Given the description of an element on the screen output the (x, y) to click on. 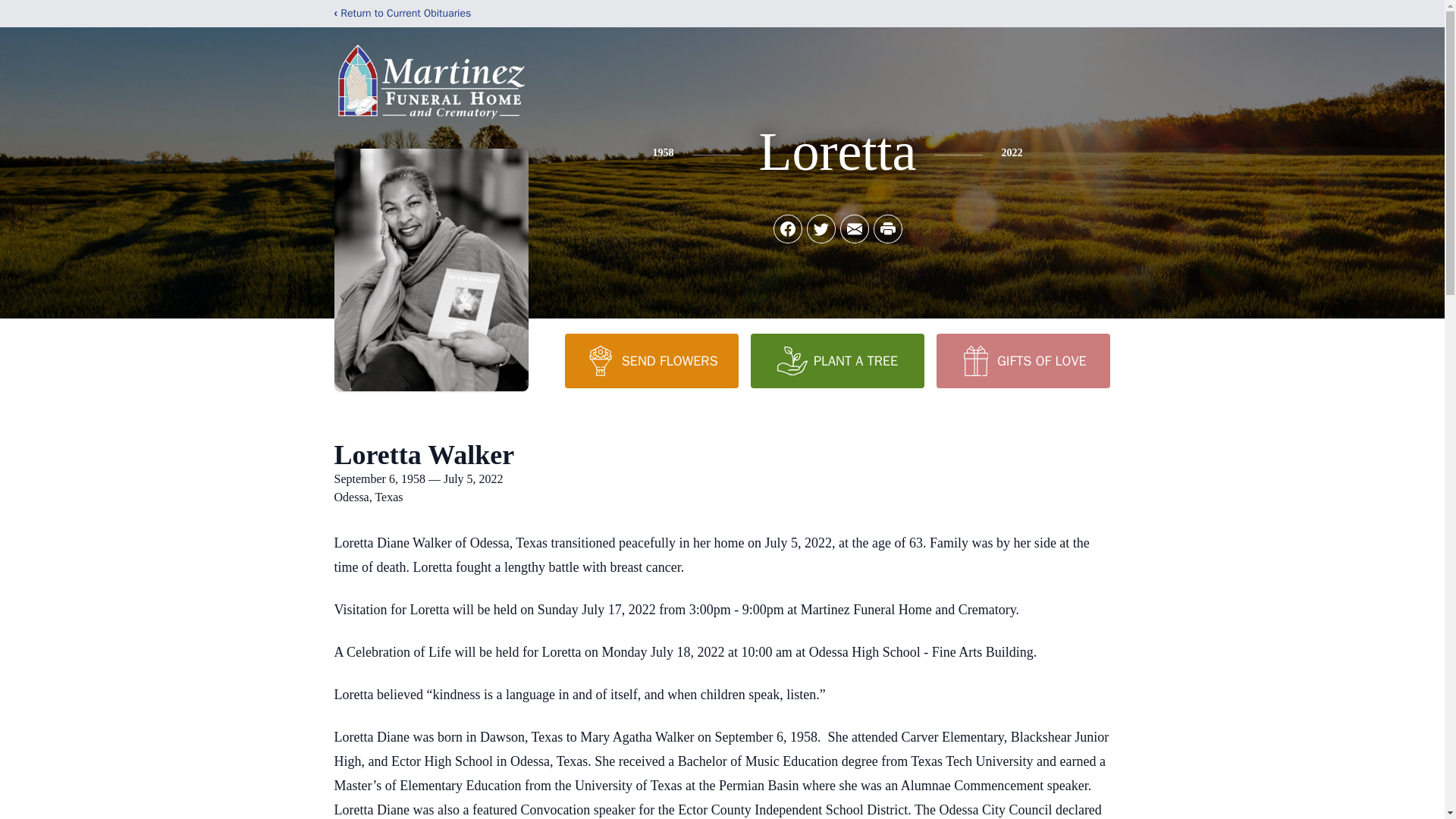
GIFTS OF LOVE (1022, 360)
SEND FLOWERS (651, 360)
PLANT A TREE (837, 360)
